Given the description of an element on the screen output the (x, y) to click on. 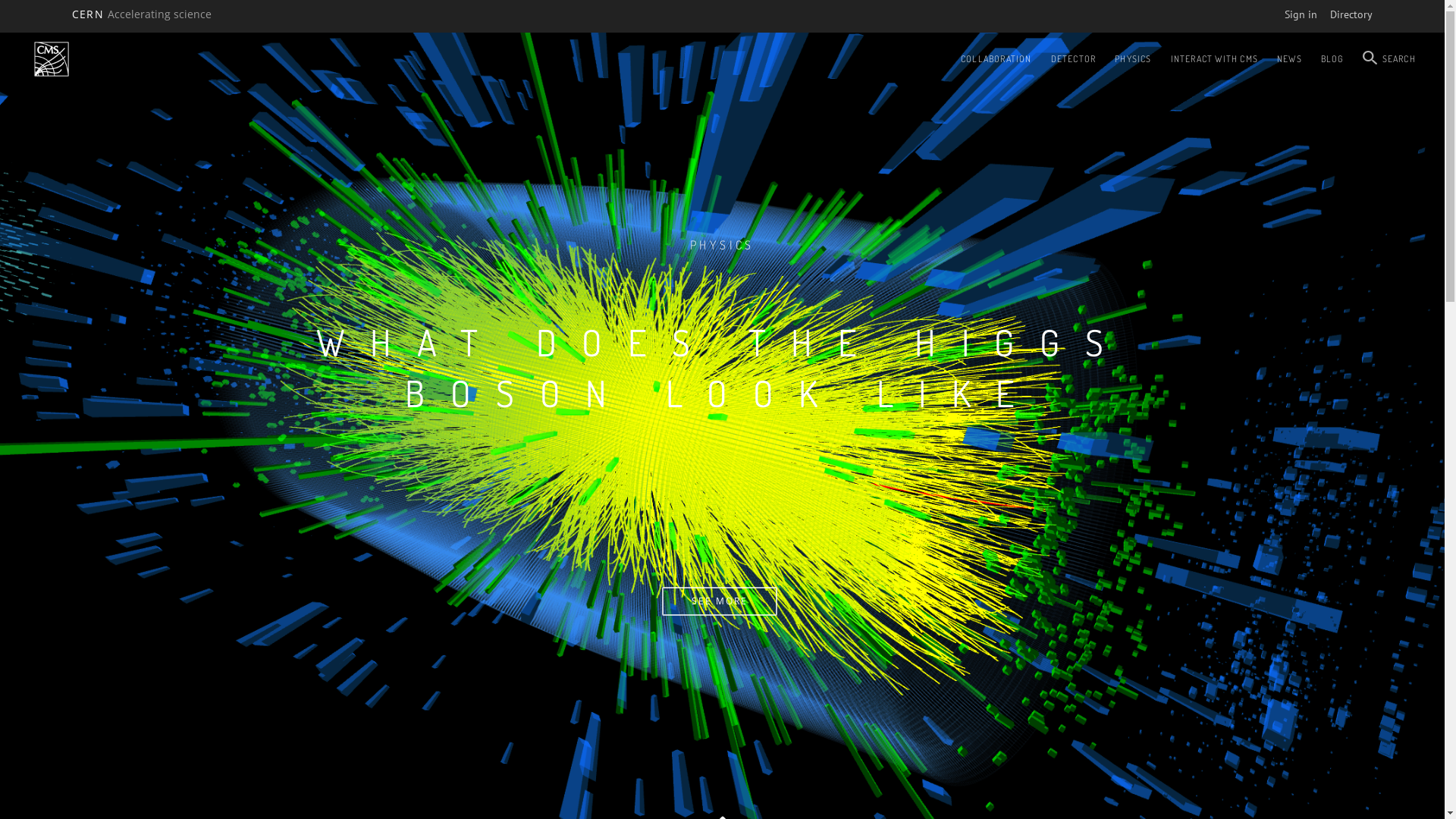
Sign in Element type: text (1300, 14)
CERN Accelerating science Element type: text (141, 14)
SEE MORE Element type: text (718, 600)
DETECTOR Element type: text (1073, 58)
Home Element type: hover (51, 58)
Skip to main content Element type: text (0, 30)
Directory Element type: text (1351, 14)
NEWS Element type: text (1289, 58)
INTERACT WITH CMS Element type: text (1214, 58)
SEARCH Element type: text (1389, 58)
COLLABORATION Element type: text (996, 58)
PHYSICS Element type: text (1132, 58)
BLOG Element type: text (1332, 58)
